Given the description of an element on the screen output the (x, y) to click on. 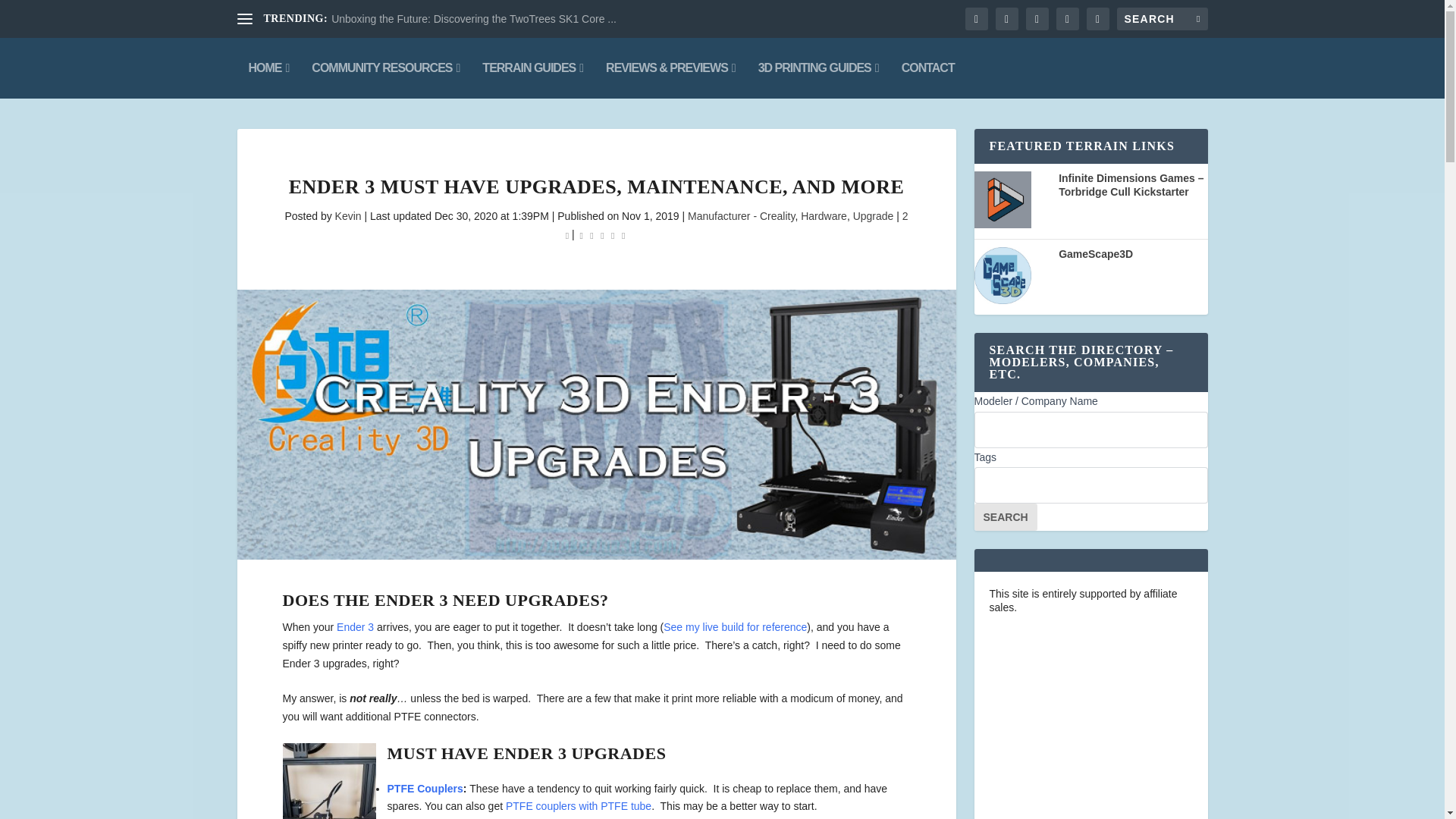
Ender 3 (355, 626)
TERRAIN GUIDES (532, 67)
Kevin (347, 215)
Posts by Kevin (347, 215)
Upgrade (873, 215)
Hardware (823, 215)
Unboxing the Future: Discovering the TwoTrees SK1 Core ... (473, 19)
Manufacturer - Creality (740, 215)
Search (1005, 516)
COMMUNITY RESOURCES (385, 67)
2 (737, 224)
Rating: 4.50 (602, 235)
Search for: (1161, 18)
Search (1005, 516)
3D PRINTING GUIDES (818, 67)
